Given the description of an element on the screen output the (x, y) to click on. 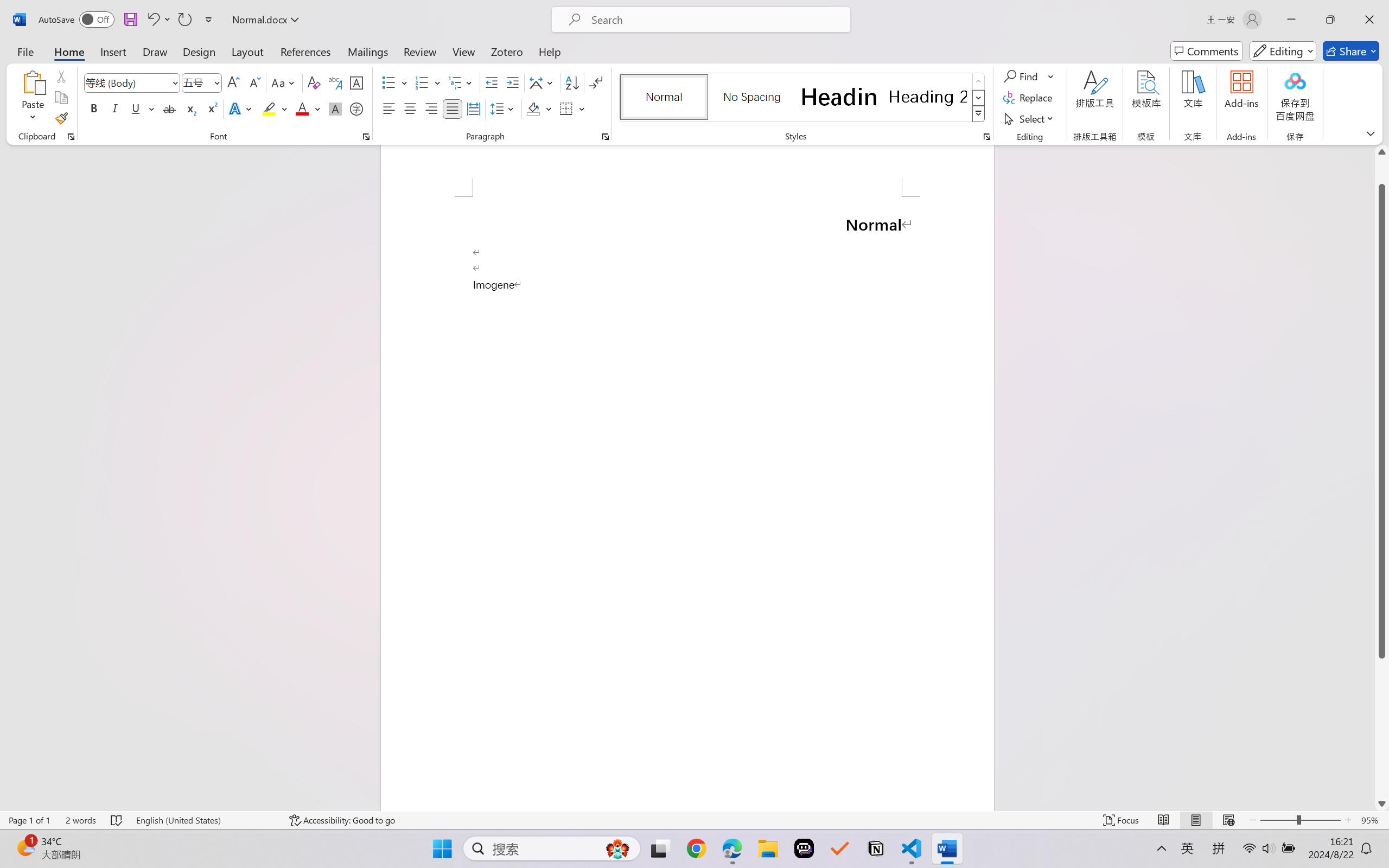
Action Center, 1 new notification (1372, 855)
